Given the description of an element on the screen output the (x, y) to click on. 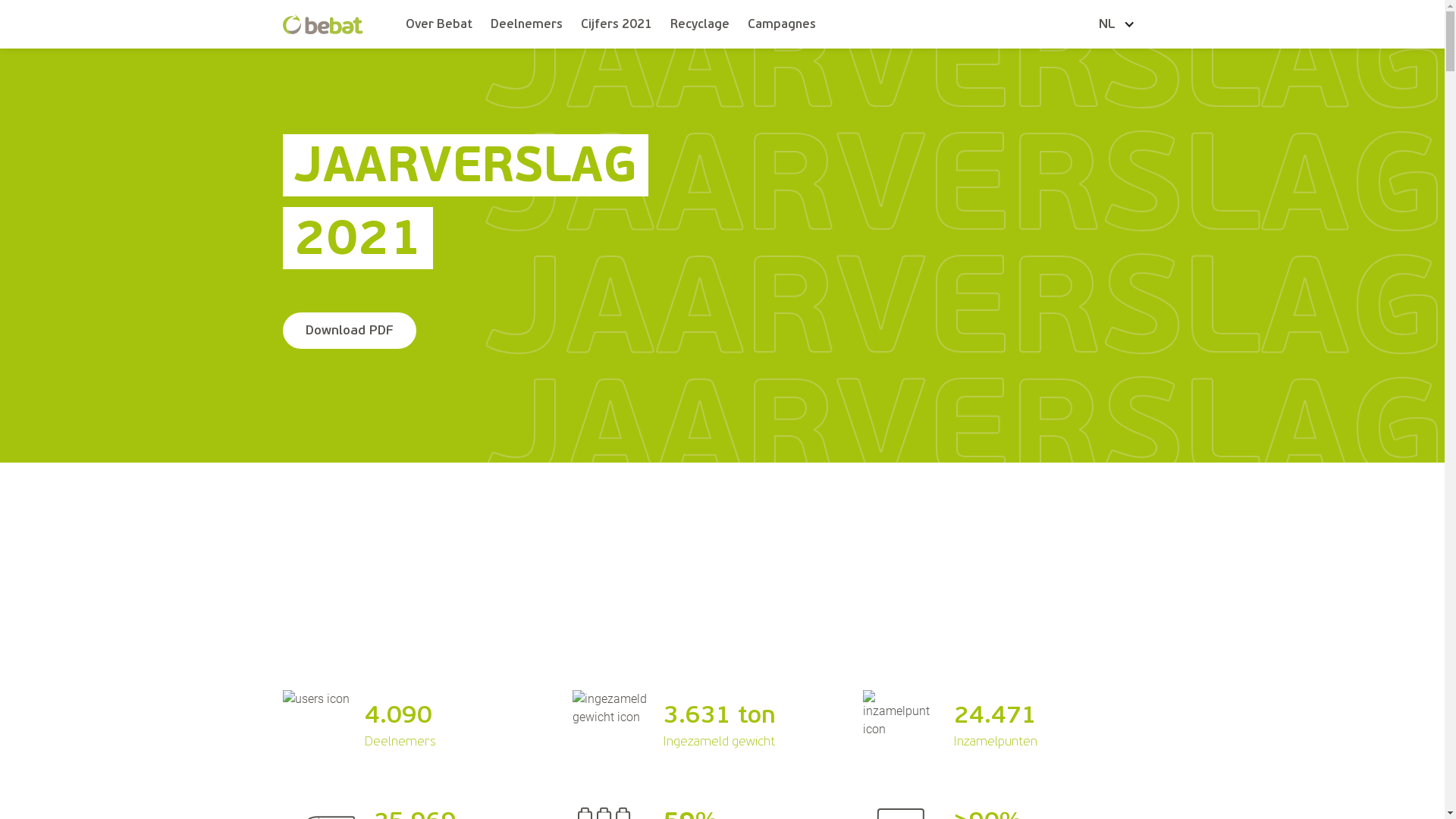
Recyclage Element type: text (699, 23)
Cijfers 2021 Element type: text (616, 23)
Deelnemers Element type: text (526, 23)
Campagnes Element type: text (781, 23)
Over Bebat Element type: text (438, 23)
Download PDF Element type: text (348, 330)
